Given the description of an element on the screen output the (x, y) to click on. 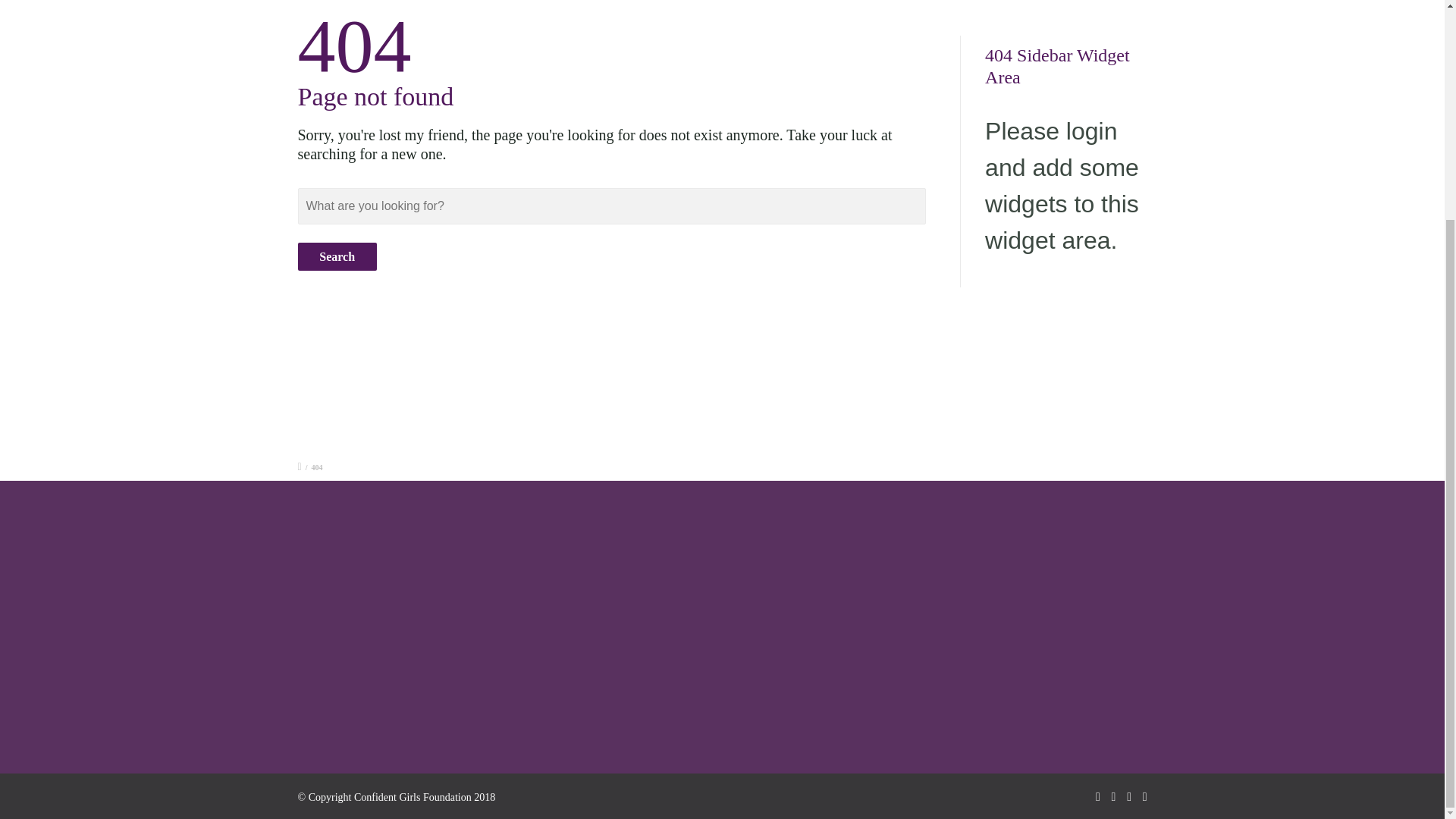
Search (336, 256)
Search (336, 256)
